Given the description of an element on the screen output the (x, y) to click on. 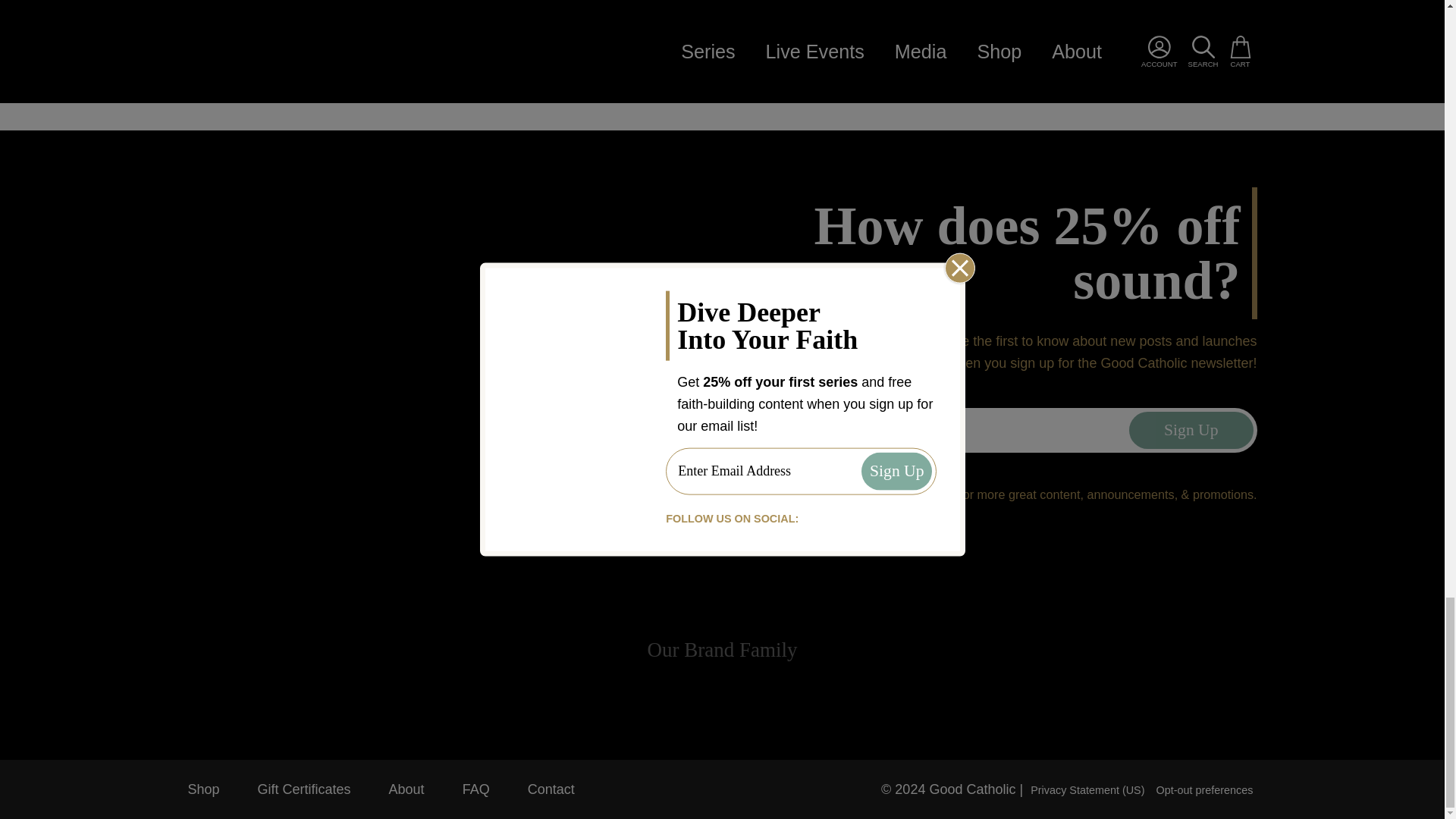
Shop (212, 789)
Sign Up (1190, 430)
Sign Up (1190, 430)
